Given the description of an element on the screen output the (x, y) to click on. 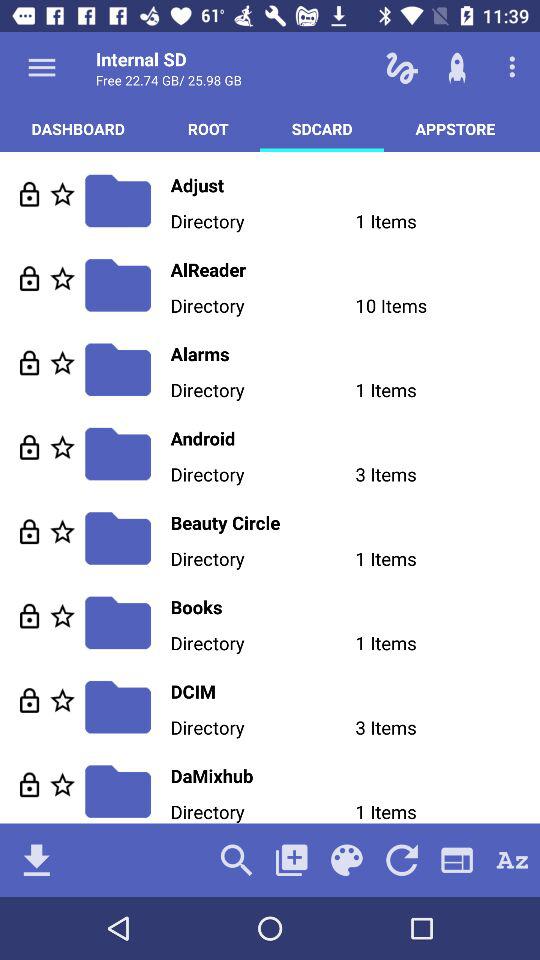
go to files (62, 700)
